Given the description of an element on the screen output the (x, y) to click on. 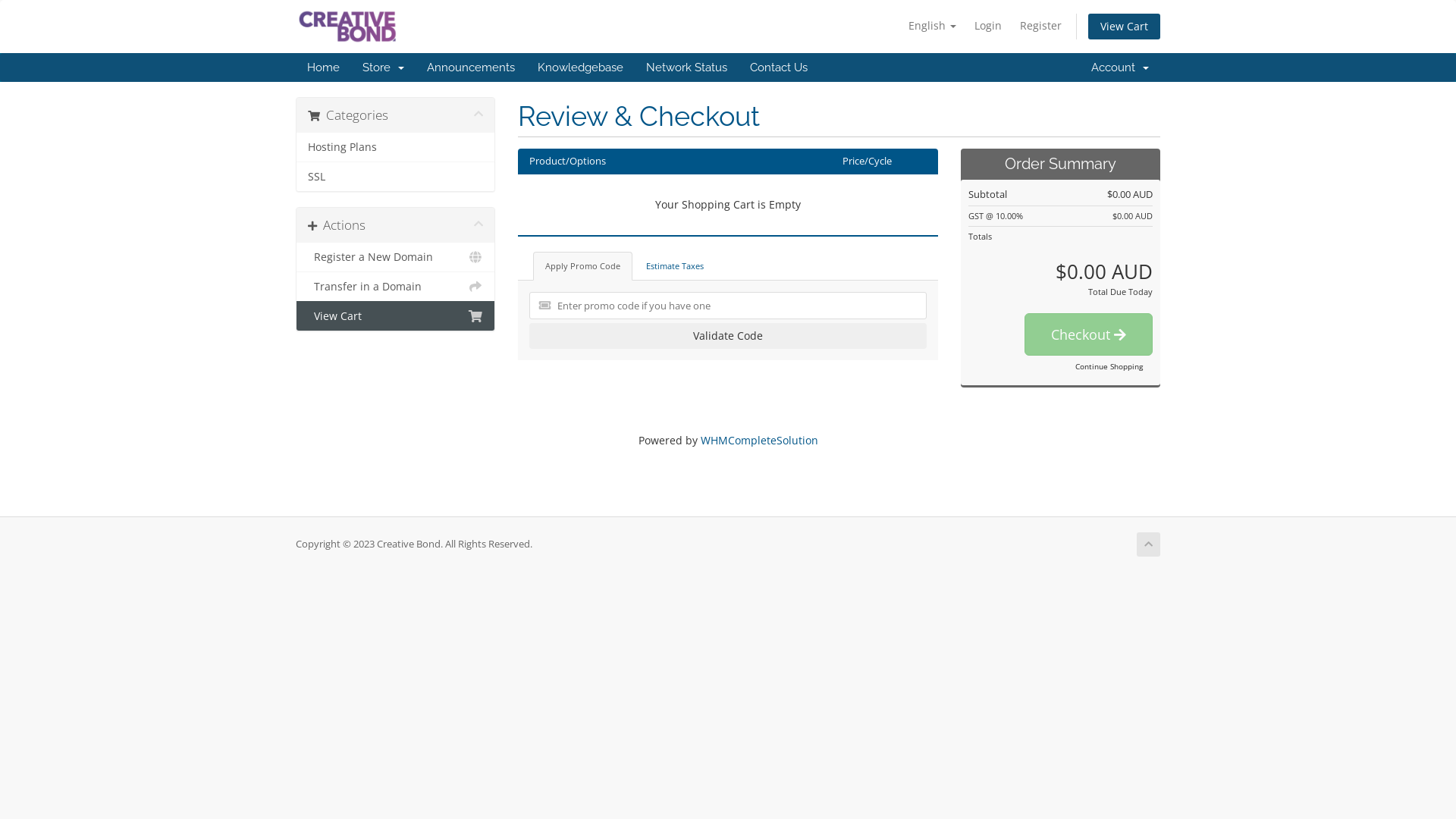
Store   Element type: text (383, 67)
Account   Element type: text (1119, 67)
WHMCompleteSolution Element type: text (759, 440)
Estimate Taxes Element type: text (674, 265)
Announcements Element type: text (470, 67)
View Cart Element type: text (1124, 26)
Contact Us Element type: text (778, 67)
Validate Code Element type: text (728, 335)
Hosting Plans Element type: text (395, 147)
Network Status Element type: text (686, 67)
Checkout Element type: text (1088, 334)
Register Element type: text (1040, 25)
  Register a New Domain Element type: text (395, 257)
SSL Element type: text (395, 176)
Login Element type: text (987, 25)
Knowledgebase Element type: text (580, 67)
  View Cart Element type: text (395, 315)
  Transfer in a Domain Element type: text (395, 286)
English Element type: text (931, 25)
Continue Shopping Element type: text (1108, 365)
Apply Promo Code Element type: text (581, 265)
Home Element type: text (323, 67)
